Given the description of an element on the screen output the (x, y) to click on. 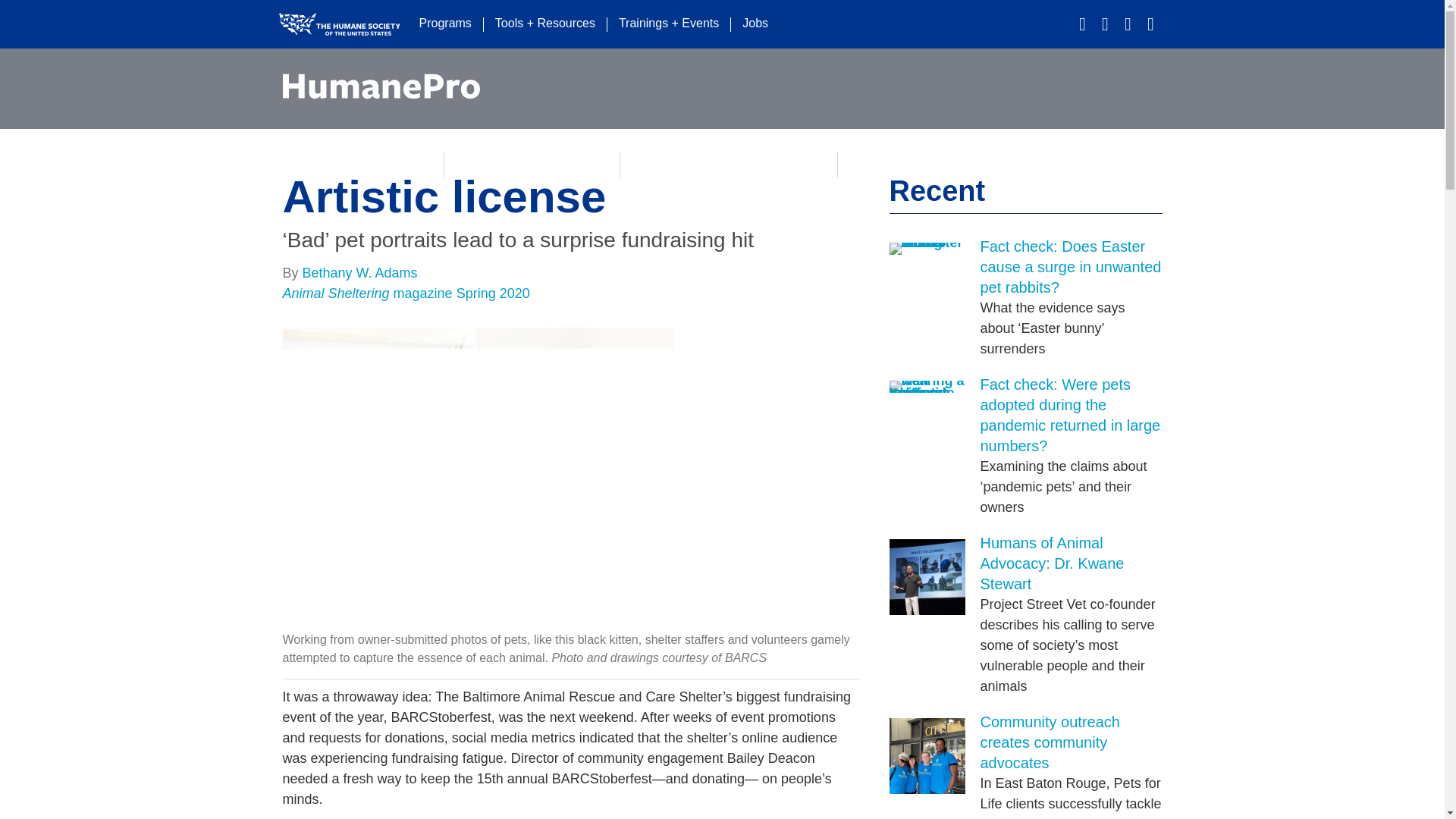
Community Outreach (922, 164)
Programs (445, 23)
Resources by Species (532, 164)
HumanePro by The Humane Society of the United States Home (380, 86)
The Humane Society of the United States (338, 24)
Bethany W. Adams  (359, 272)
